Given the description of an element on the screen output the (x, y) to click on. 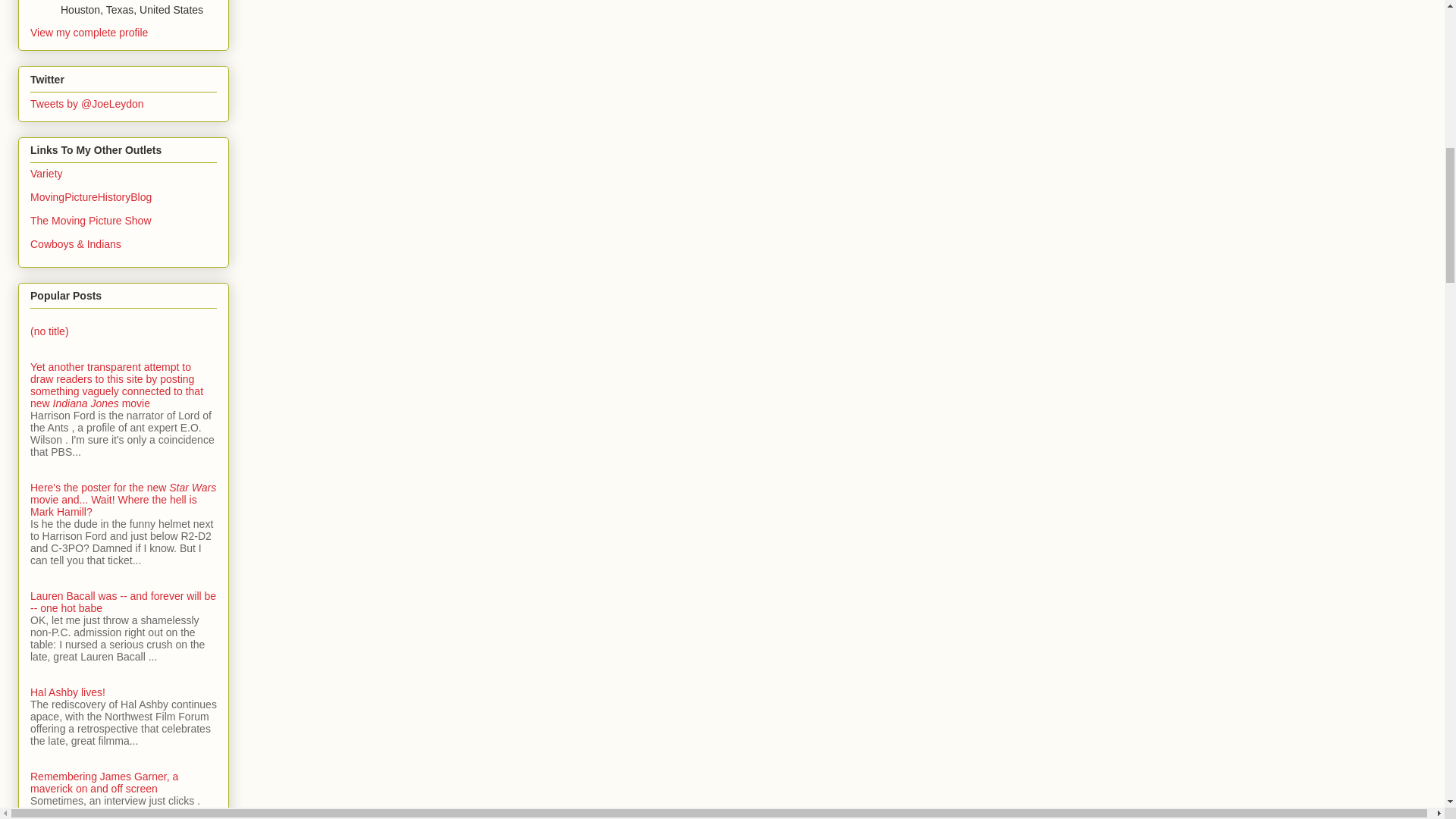
The Moving Picture Show (90, 220)
View my complete profile (89, 32)
Variety (46, 173)
Lauren Bacall was -- and forever will be -- one hot babe (122, 601)
MovingPictureHistoryBlog (90, 196)
